Given the description of an element on the screen output the (x, y) to click on. 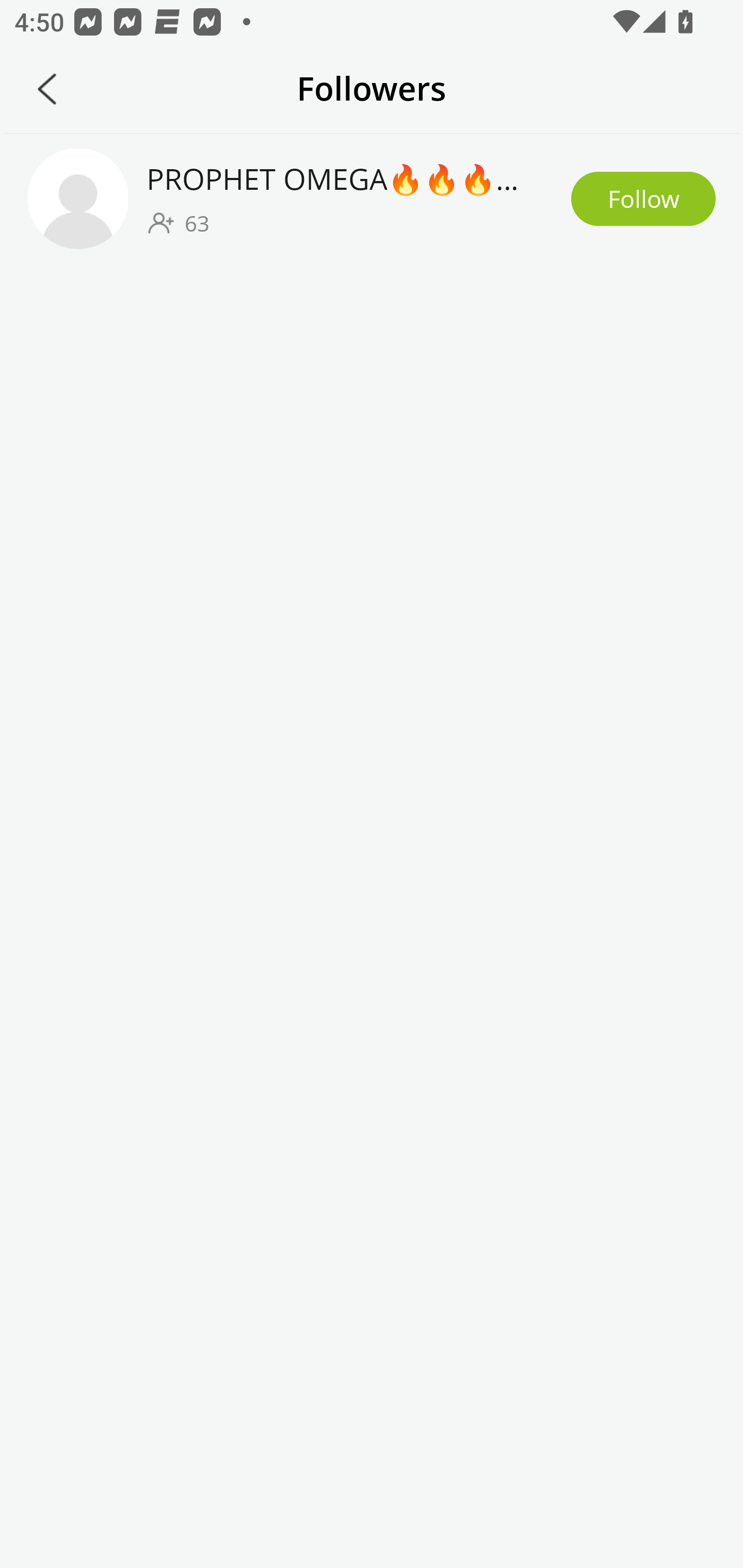
Back (46, 88)
PROPHET OMEGA🔥🔥🔥🔥🔥 63 Follow (371, 198)
Follow (643, 198)
